Given the description of an element on the screen output the (x, y) to click on. 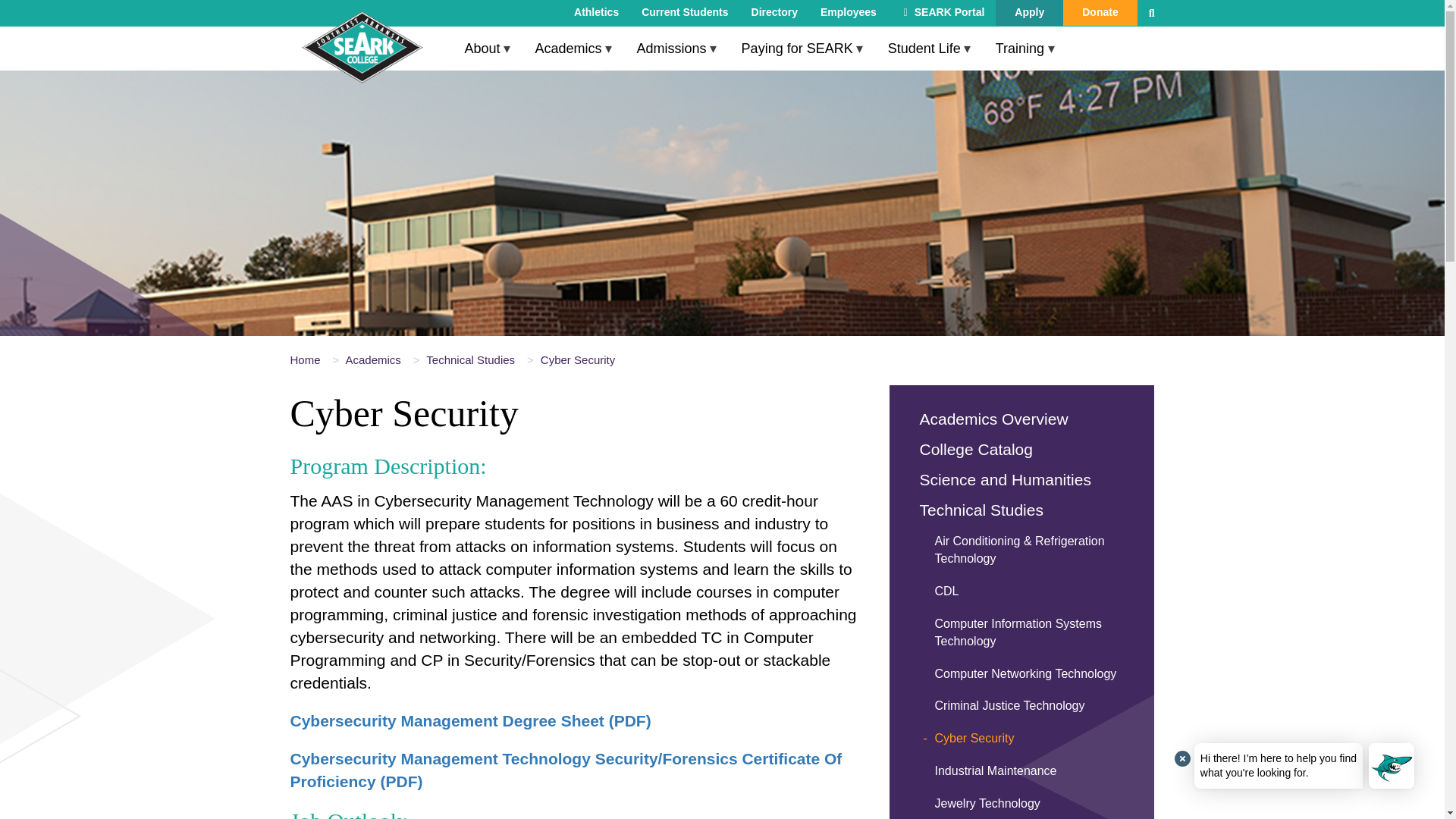
Donate (1099, 12)
Employees (848, 12)
Current Students (684, 12)
Athletics (596, 12)
SEARK Portal (943, 12)
Employess (848, 12)
Apply (1028, 12)
Directory (774, 12)
